Given the description of an element on the screen output the (x, y) to click on. 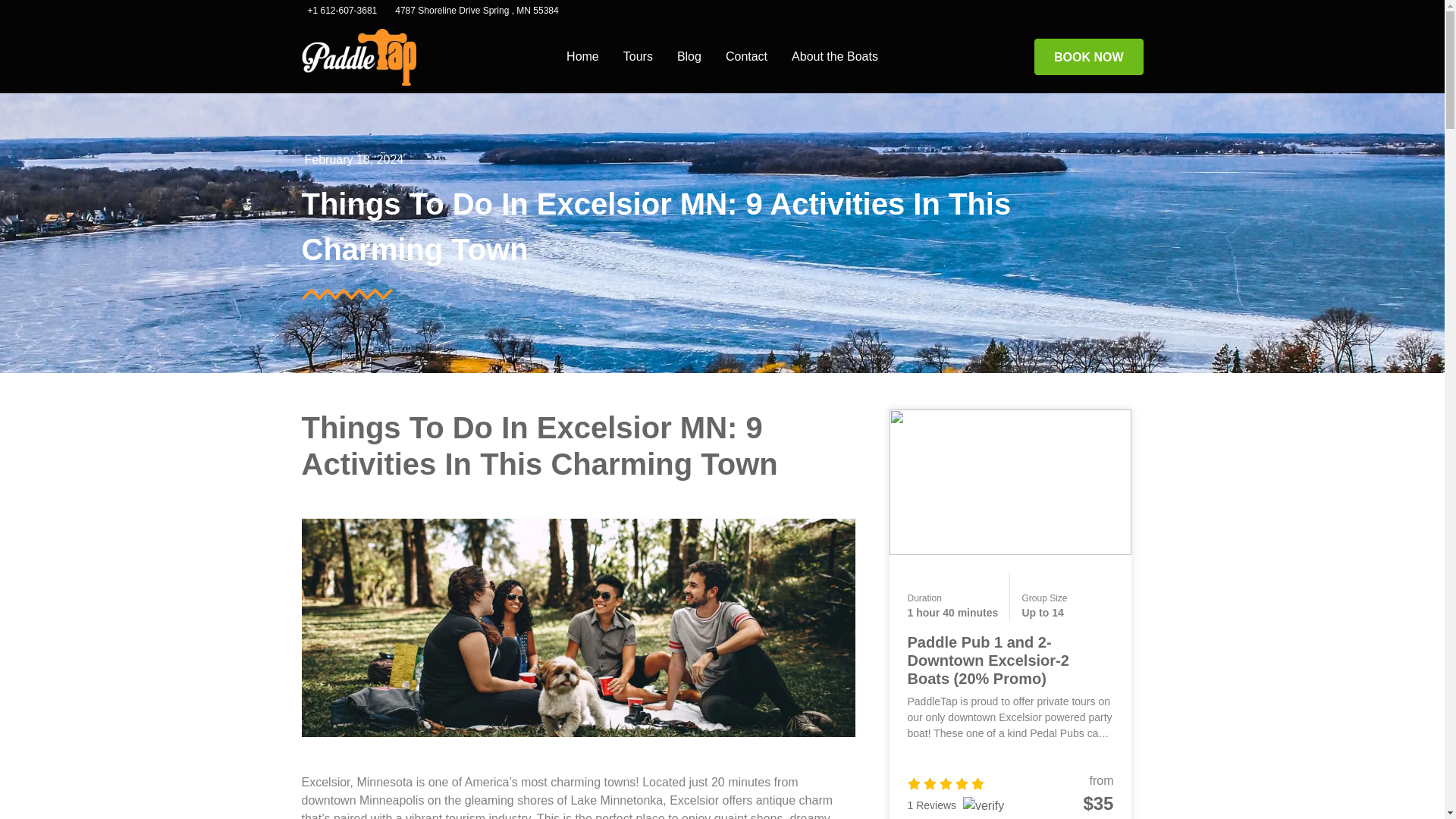
Book Now (1087, 56)
4787 Shoreline Drive Spring , MN 55384 (475, 9)
Blog (689, 56)
BOOK NOW (1087, 56)
Contact (745, 56)
About the Boats (833, 56)
Tours (638, 56)
Google Maps (475, 9)
Gondola (358, 56)
Home (582, 56)
